Given the description of an element on the screen output the (x, y) to click on. 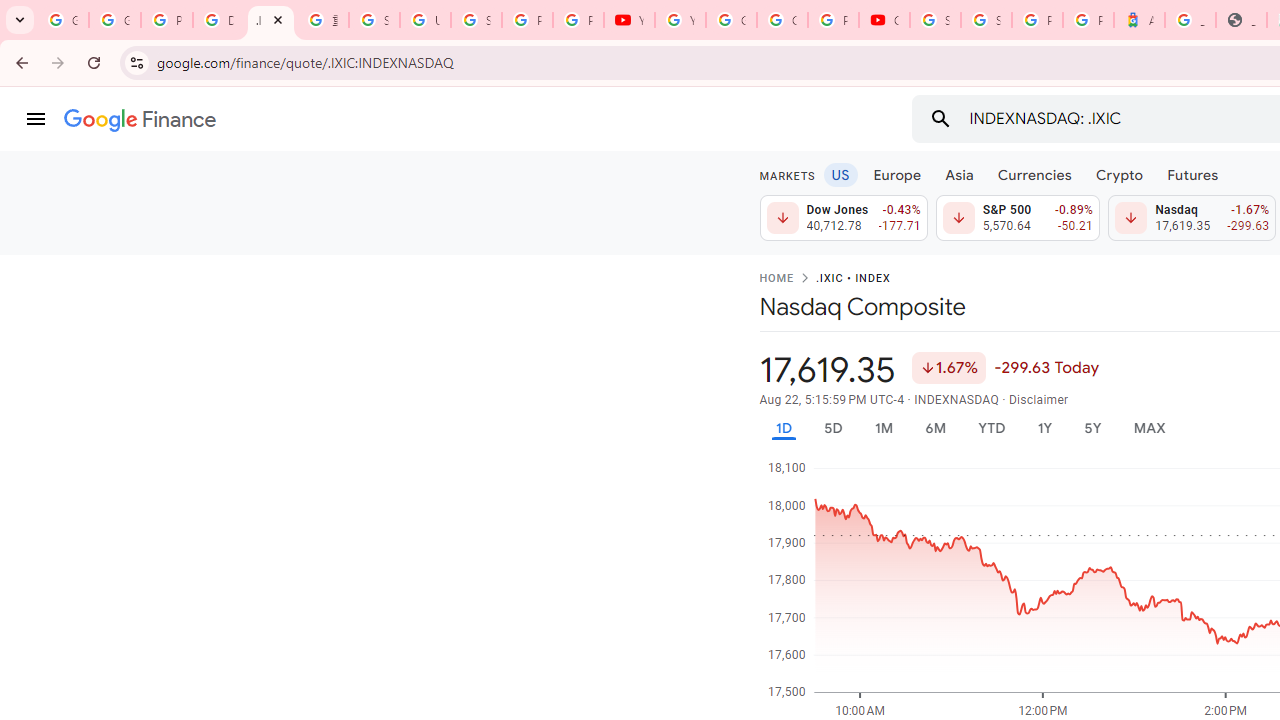
Dow Jones 40,712.78 Down by 0.43% -177.71 (843, 218)
YouTube (629, 20)
Search (939, 118)
5D (832, 427)
Google Workspace Admin Community (63, 20)
YouTube (680, 20)
Content Creator Programs & Opportunities - YouTube Creators (884, 20)
Finance (140, 120)
